Given the description of an element on the screen output the (x, y) to click on. 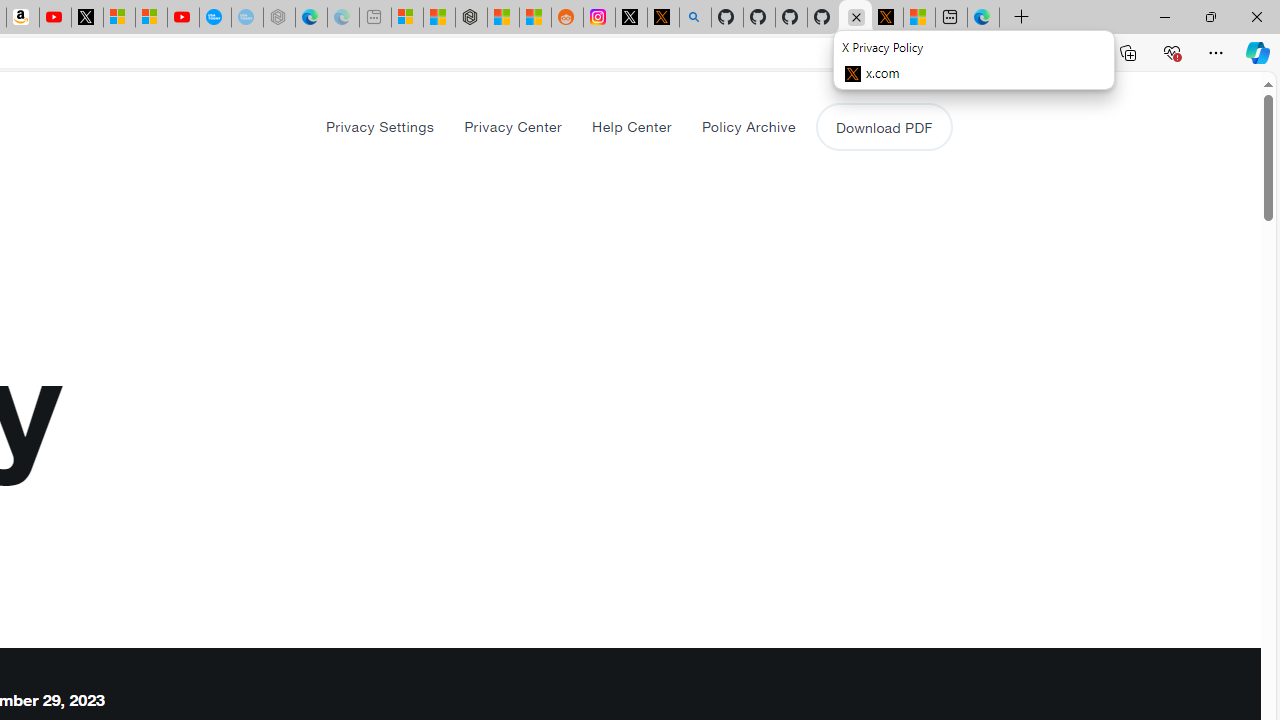
Enter Immersive Reader (F9) (991, 53)
Opinion: Op-Ed and Commentary - USA TODAY (215, 17)
Nordace - Duffels (471, 17)
The most popular Google 'how to' searches - Sleeping (246, 17)
X Privacy Policy (886, 17)
Microsoft account | Microsoft Account Privacy Settings (407, 17)
Privacy Settings (380, 126)
Privacy Center (512, 126)
Welcome to Microsoft Edge (983, 17)
